Given the description of an element on the screen output the (x, y) to click on. 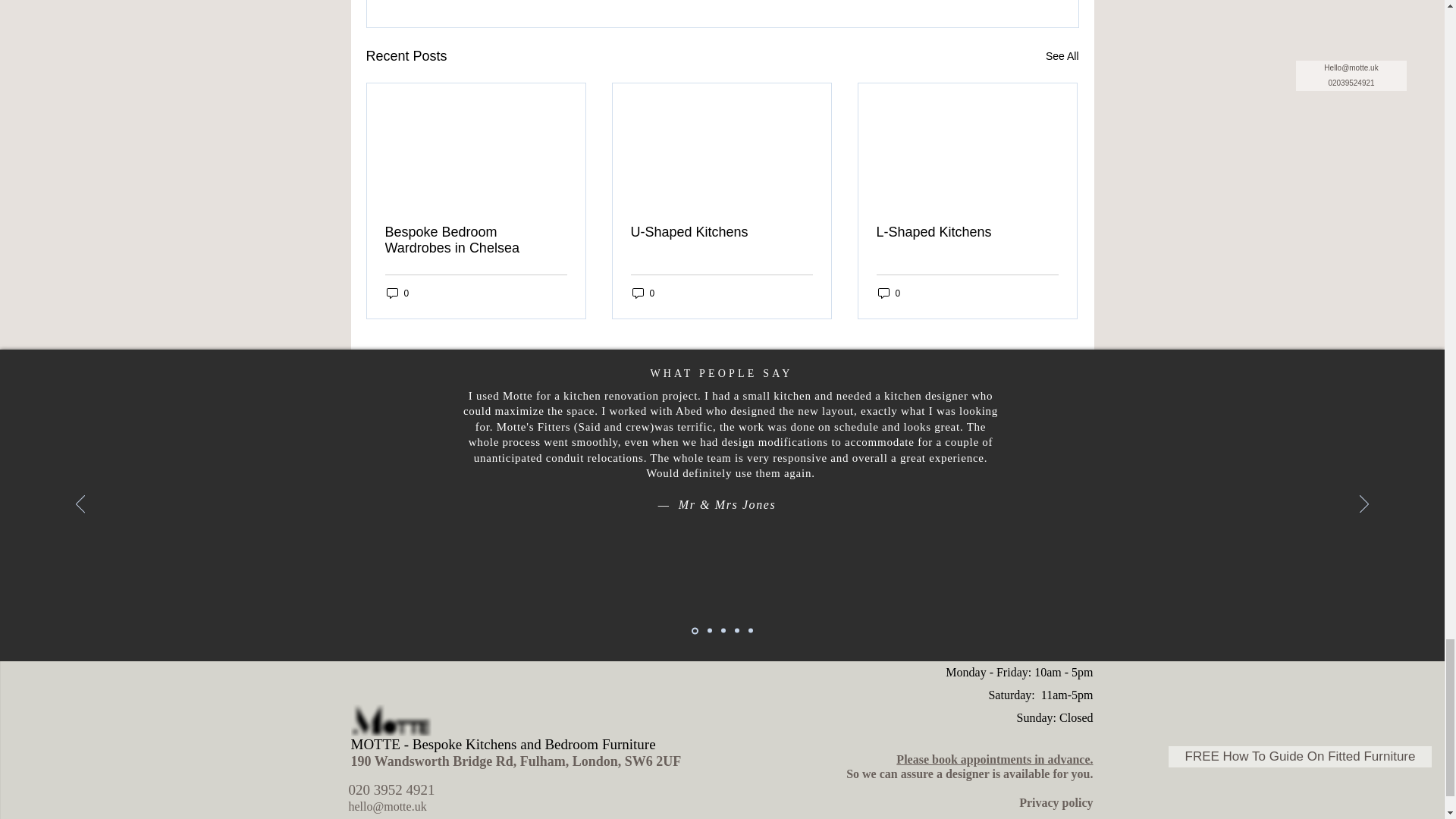
0 (397, 292)
0 (889, 292)
0 (643, 292)
Bespoke Bedroom Wardrobes in Chelsea (476, 240)
L-Shaped Kitchens (967, 232)
See All (1061, 56)
U-Shaped Kitchens (721, 232)
